Given the description of an element on the screen output the (x, y) to click on. 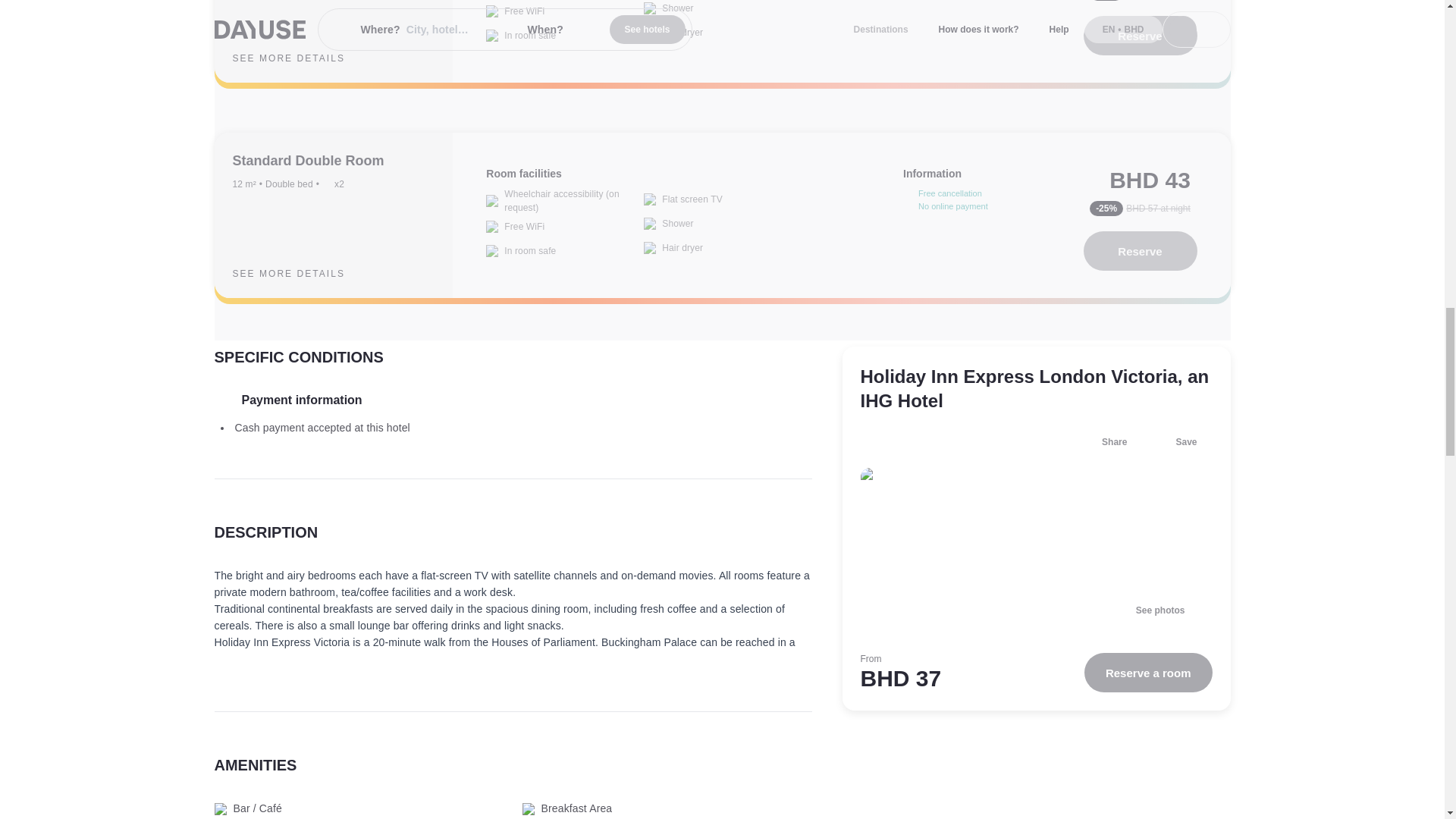
SEE MORE DETAILS (300, 58)
